Given the description of an element on the screen output the (x, y) to click on. 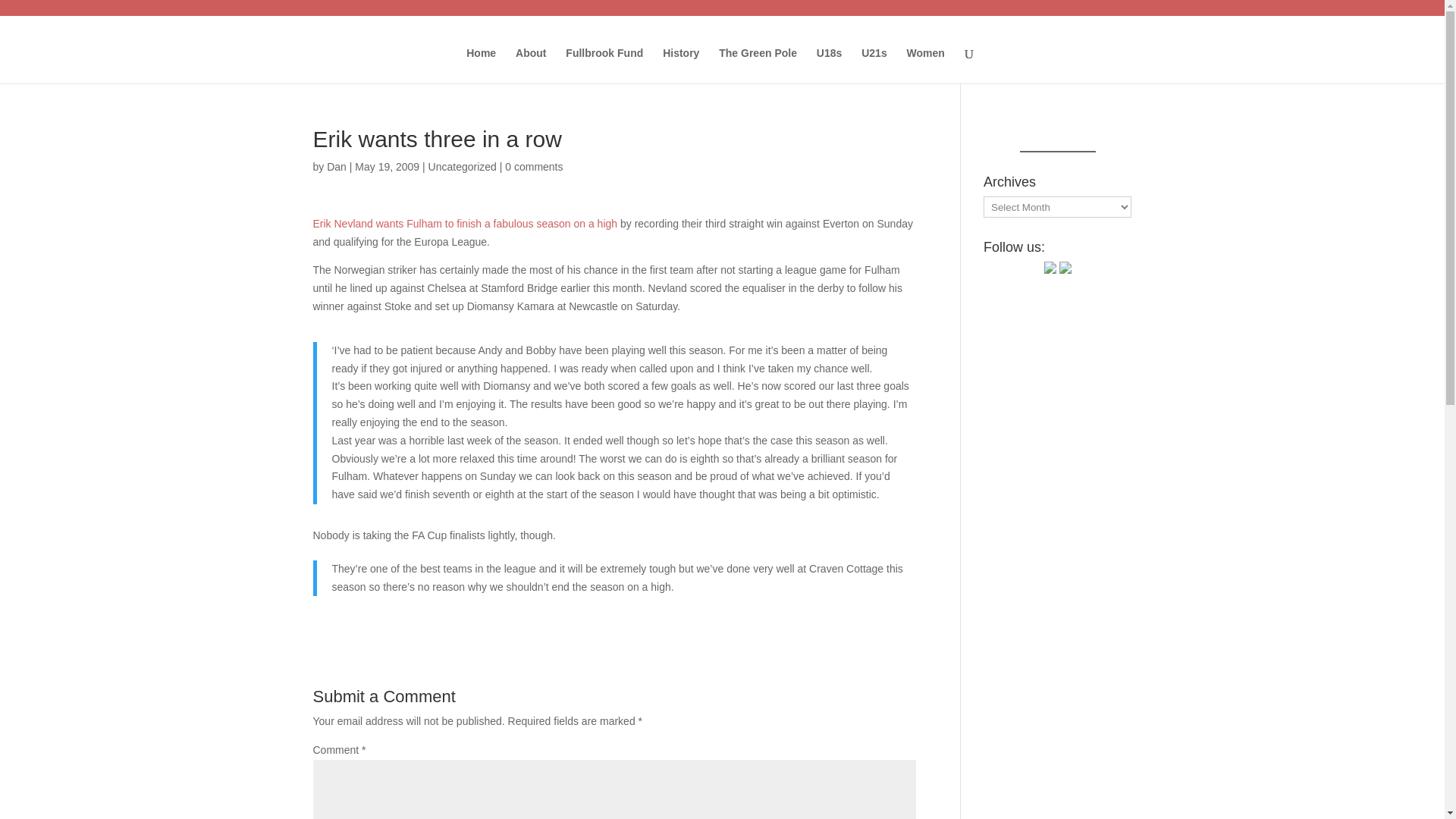
History (680, 65)
Posts by Dan (336, 166)
Fullbrook Fund (604, 65)
